Given the description of an element on the screen output the (x, y) to click on. 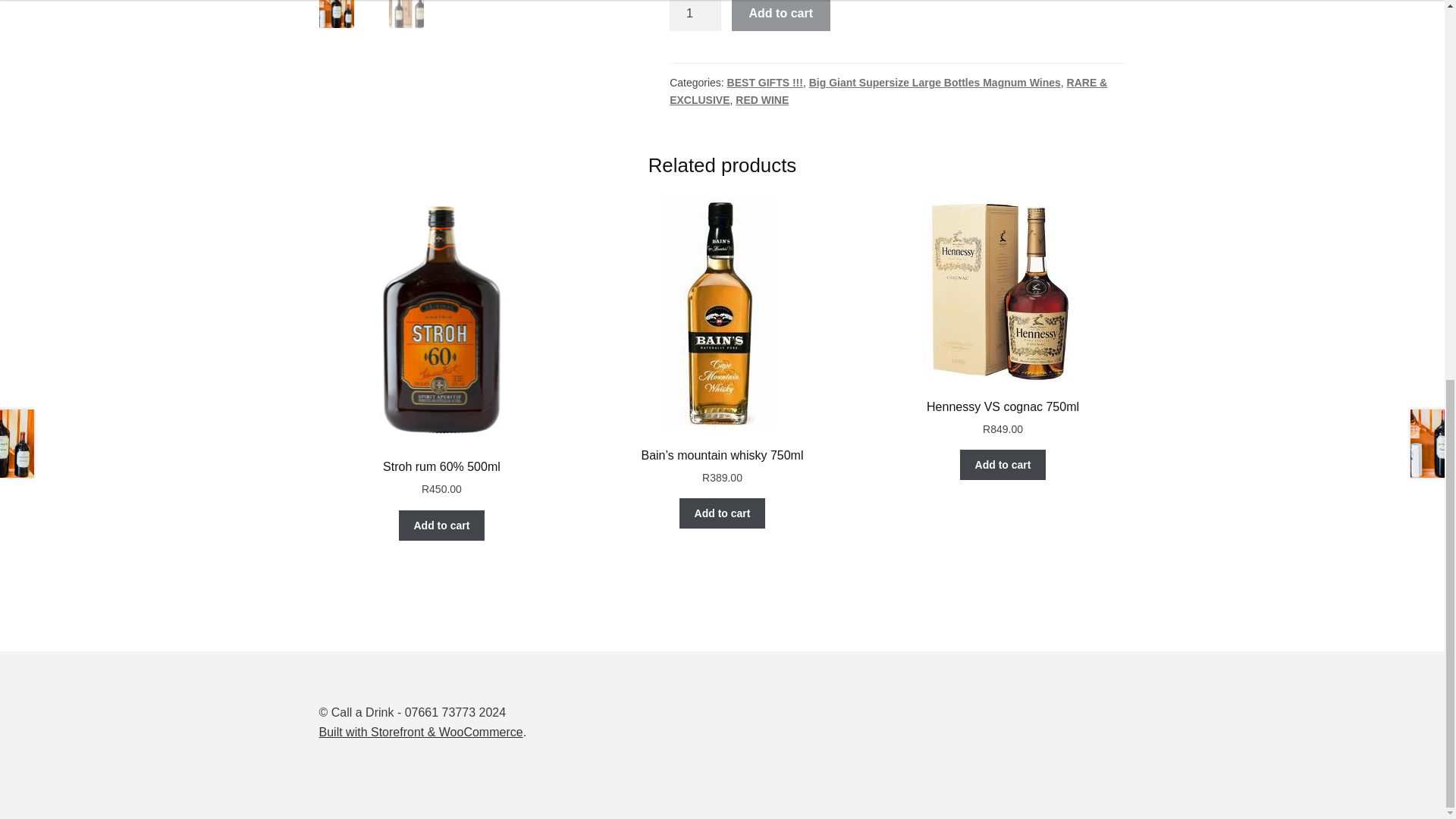
BEST GIFTS !!! (764, 82)
Qty (694, 15)
WooCommerce - The Best eCommerce Platform for WordPress (420, 731)
1 (694, 15)
RED WINE (762, 100)
Add to cart (1002, 464)
Add to cart (780, 15)
Add to cart (722, 512)
Big Giant Supersize Large Bottles Magnum Wines (1002, 317)
Add to cart (935, 82)
